Given the description of an element on the screen output the (x, y) to click on. 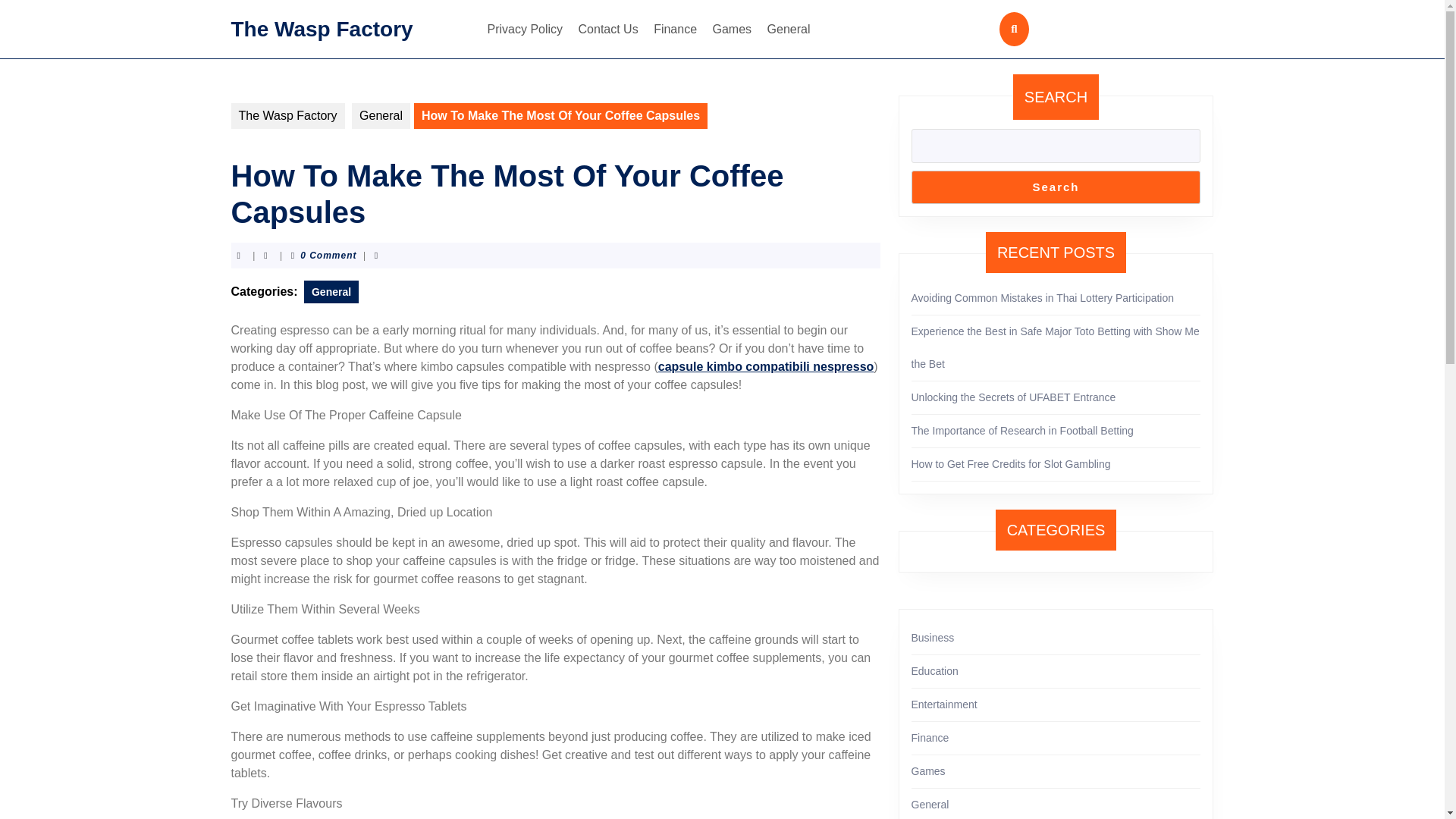
Business (933, 637)
Education (934, 671)
Finance (675, 28)
General (381, 115)
General (331, 291)
Contact Us (608, 28)
General (788, 28)
Avoiding Common Mistakes in Thai Lottery Participation (1042, 297)
Games (732, 28)
Privacy Policy (524, 28)
Unlocking the Secrets of UFABET Entrance (1013, 397)
The Importance of Research in Football Betting (1022, 430)
How to Get Free Credits for Slot Gambling (1010, 463)
The Wasp Factory (321, 28)
